Given the description of an element on the screen output the (x, y) to click on. 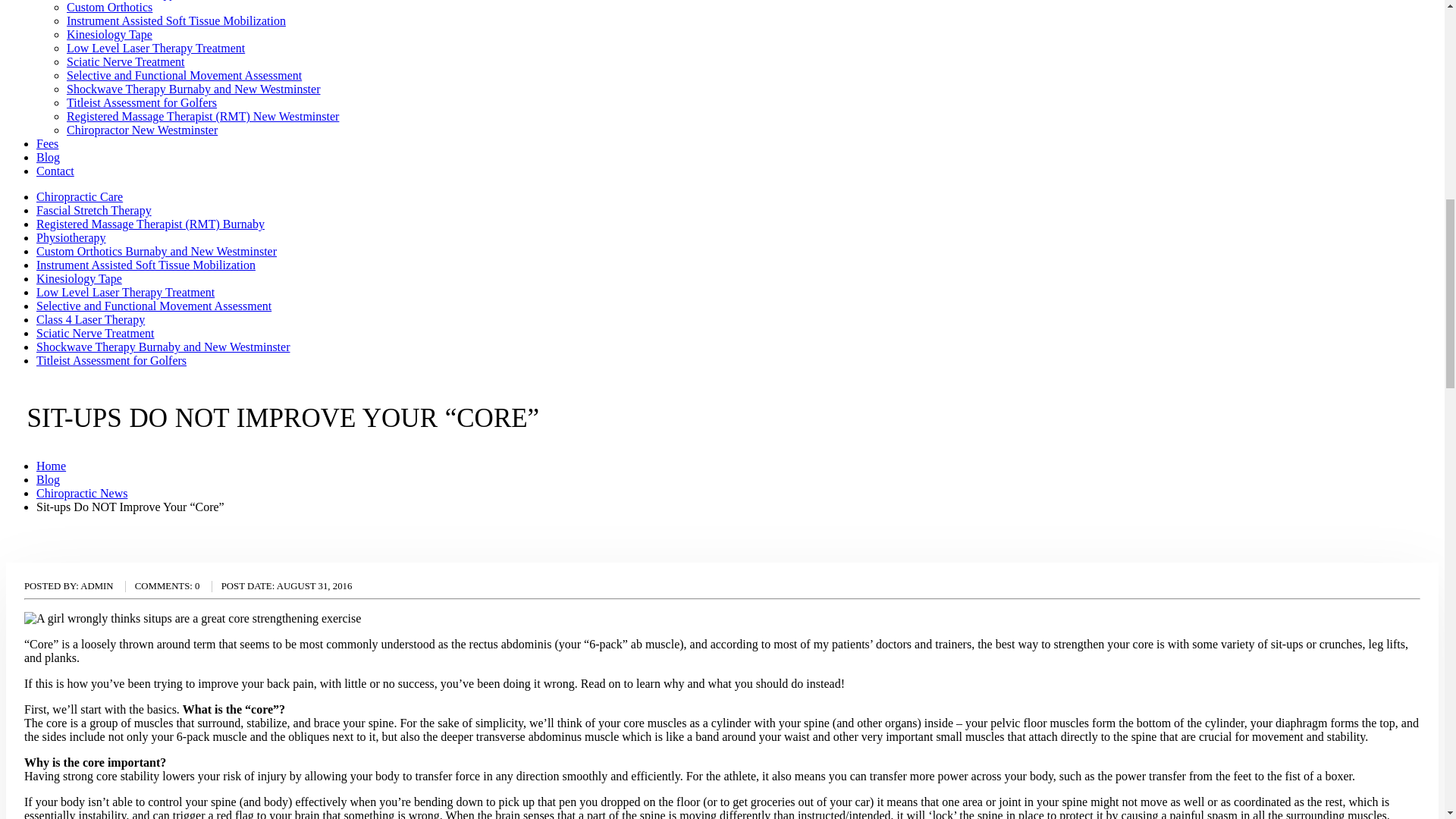
Go to Home Page (50, 465)
